Given the description of an element on the screen output the (x, y) to click on. 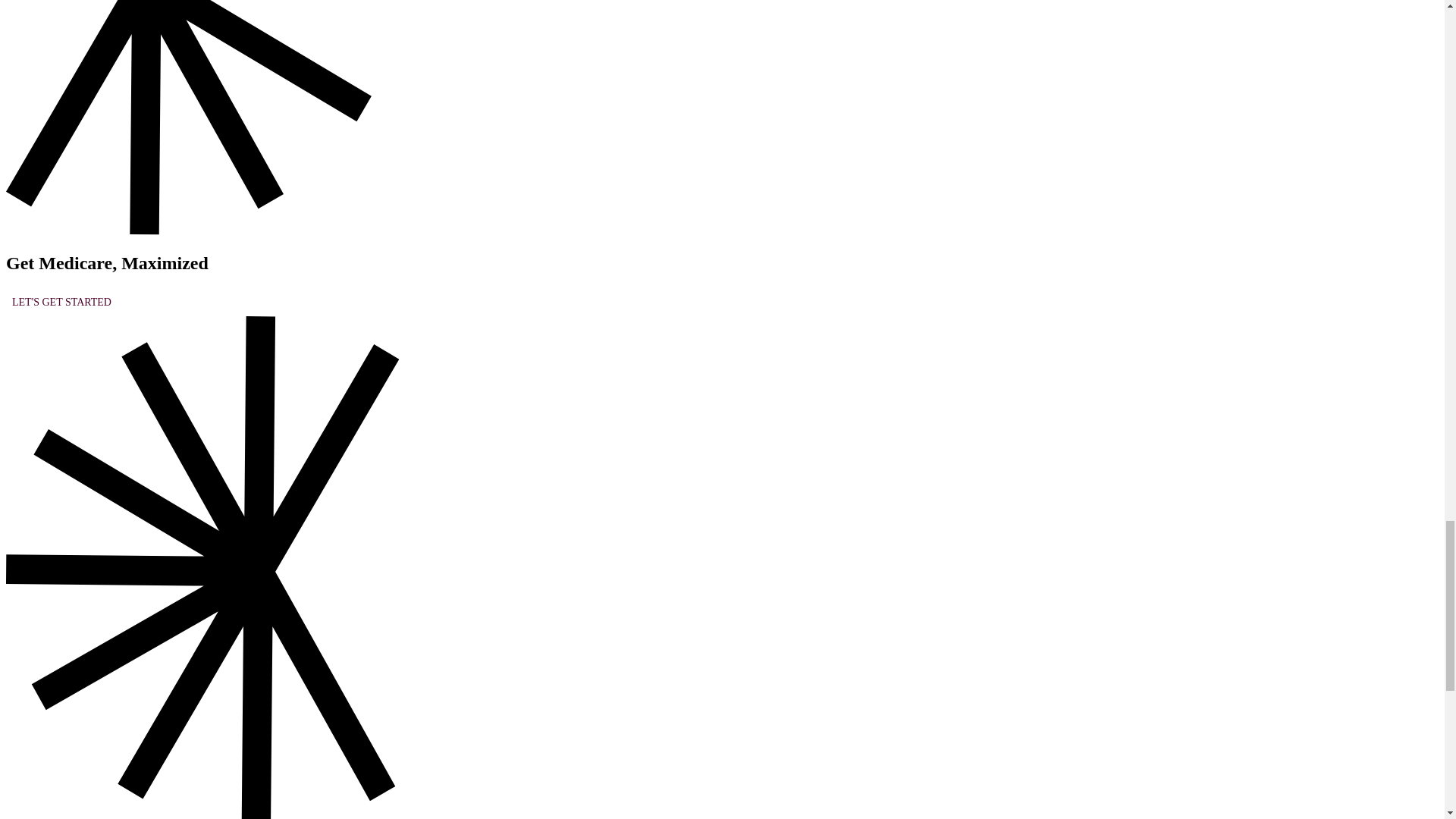
LET'S GET STARTED (61, 302)
